Given the description of an element on the screen output the (x, y) to click on. 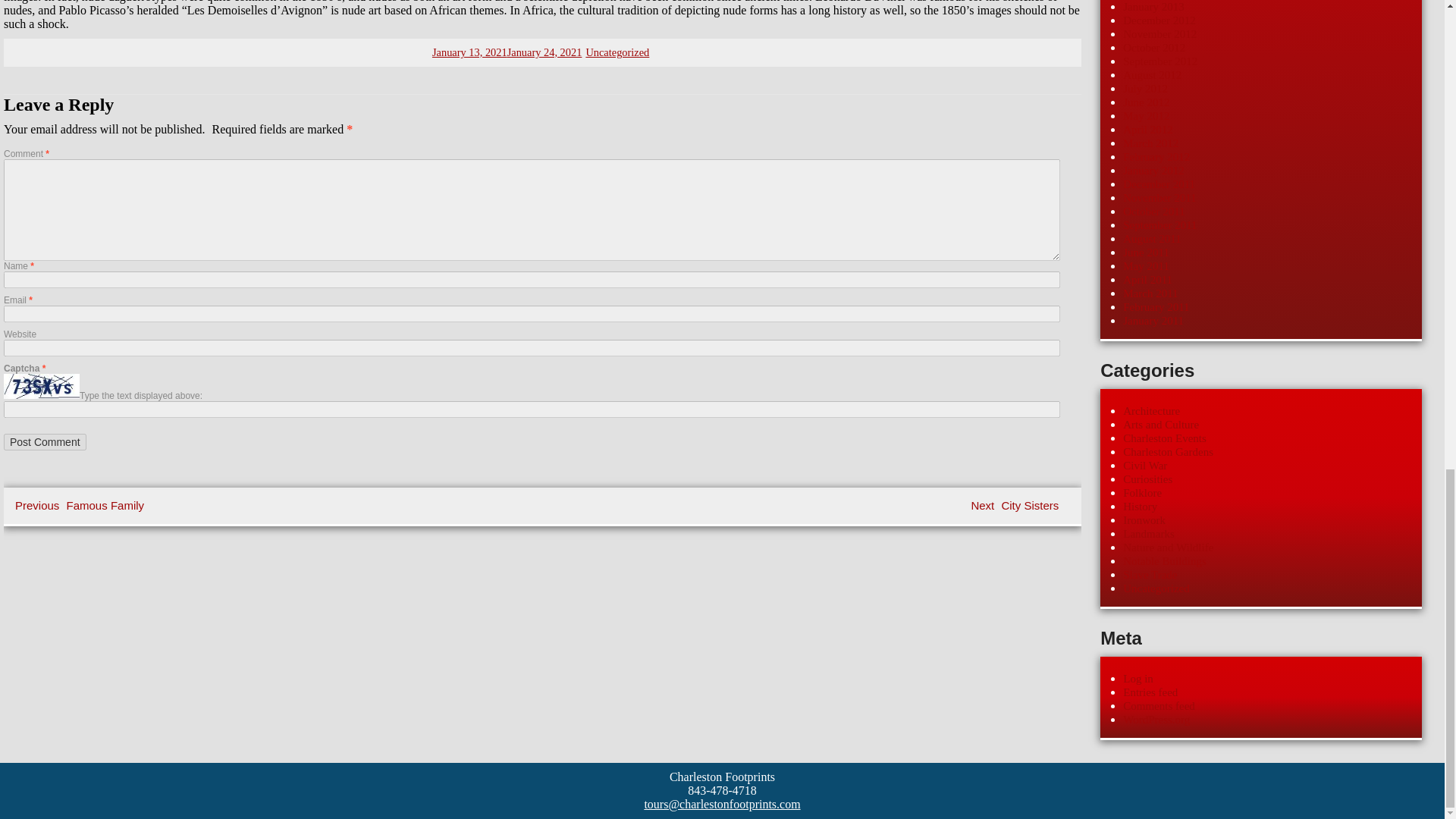
Post Comment (44, 442)
Post Comment (44, 442)
Uncategorized (81, 504)
January 13, 2021January 24, 2021 (1016, 504)
